Given the description of an element on the screen output the (x, y) to click on. 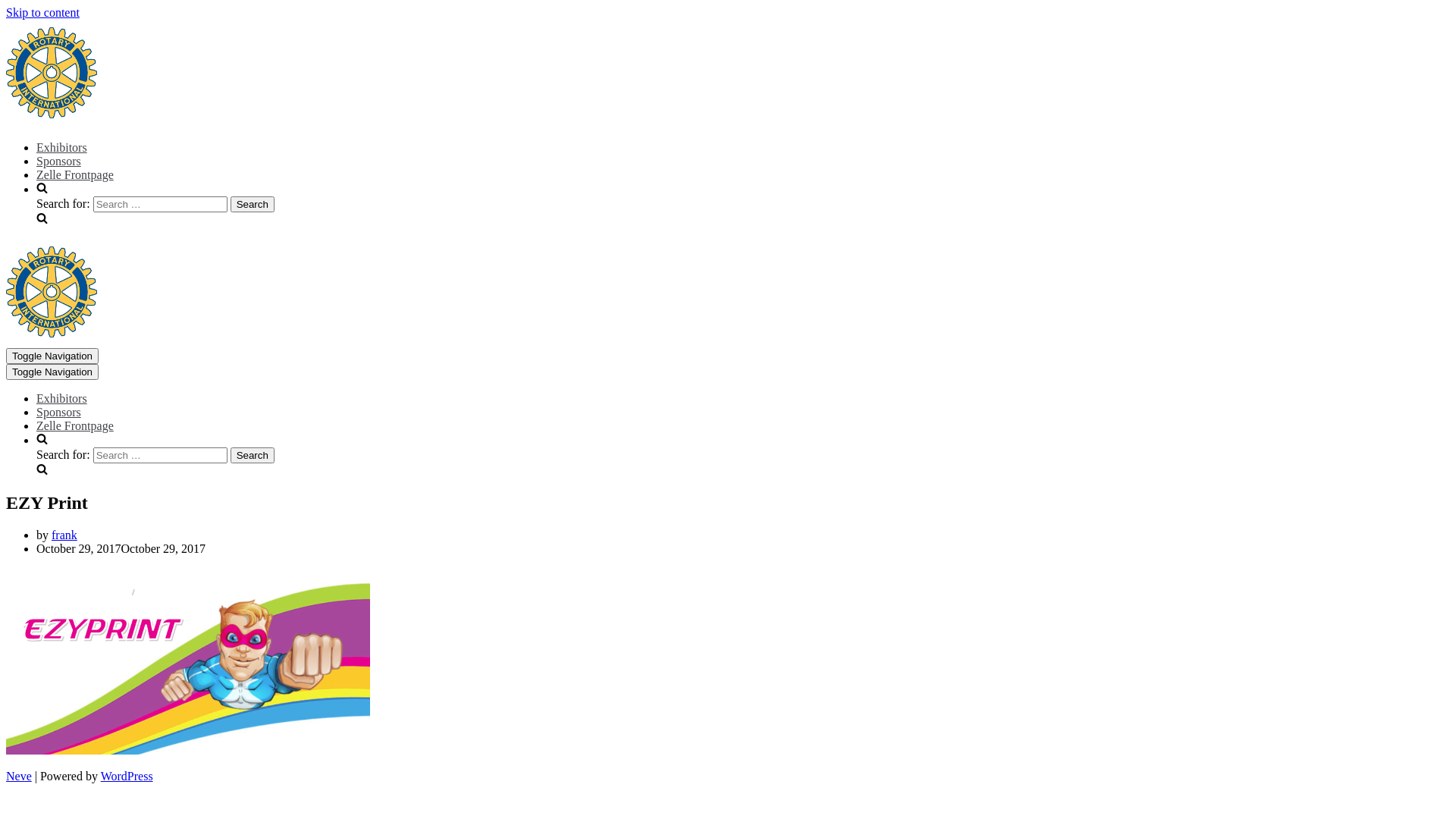
Search Element type: text (252, 455)
Sponsors Element type: text (58, 160)
Exhibitors Element type: text (61, 147)
Sponsors Element type: text (58, 411)
Toggle Navigation Element type: text (52, 371)
Zelle Frontpage Element type: text (74, 425)
frank Element type: text (64, 534)
Zelle Frontpage Element type: text (74, 174)
Narooma Rotary Renewable Energy Expo Element type: hover (51, 113)
Neve Element type: text (18, 775)
Toggle Navigation Element type: text (52, 356)
Skip to content Element type: text (42, 12)
WordPress Element type: text (126, 775)
Narooma Rotary Renewable Energy Expo Element type: hover (51, 332)
Exhibitors Element type: text (61, 398)
Search Element type: text (252, 204)
